Given the description of an element on the screen output the (x, y) to click on. 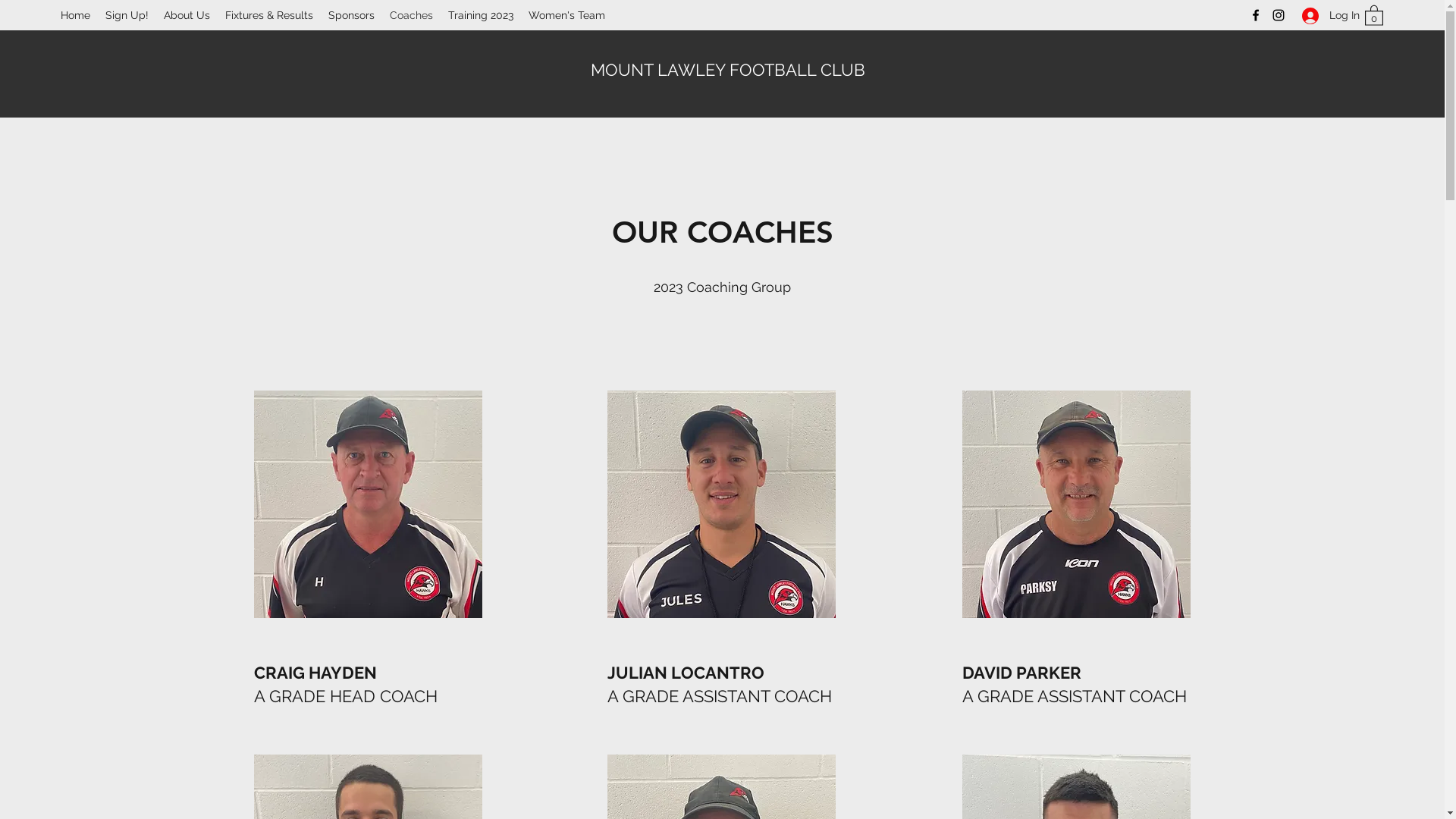
Coaches Element type: text (411, 14)
About Us Element type: text (186, 14)
Training 2023 Element type: text (480, 14)
Home Element type: text (75, 14)
Fixtures & Results Element type: text (268, 14)
Women's Team Element type: text (566, 14)
Log In Element type: text (1325, 15)
MOUNT LAWLEY FOOTBALL CLUB Element type: text (727, 69)
0 Element type: text (1374, 14)
Sign Up! Element type: text (126, 14)
Sponsors Element type: text (351, 14)
